Given the description of an element on the screen output the (x, y) to click on. 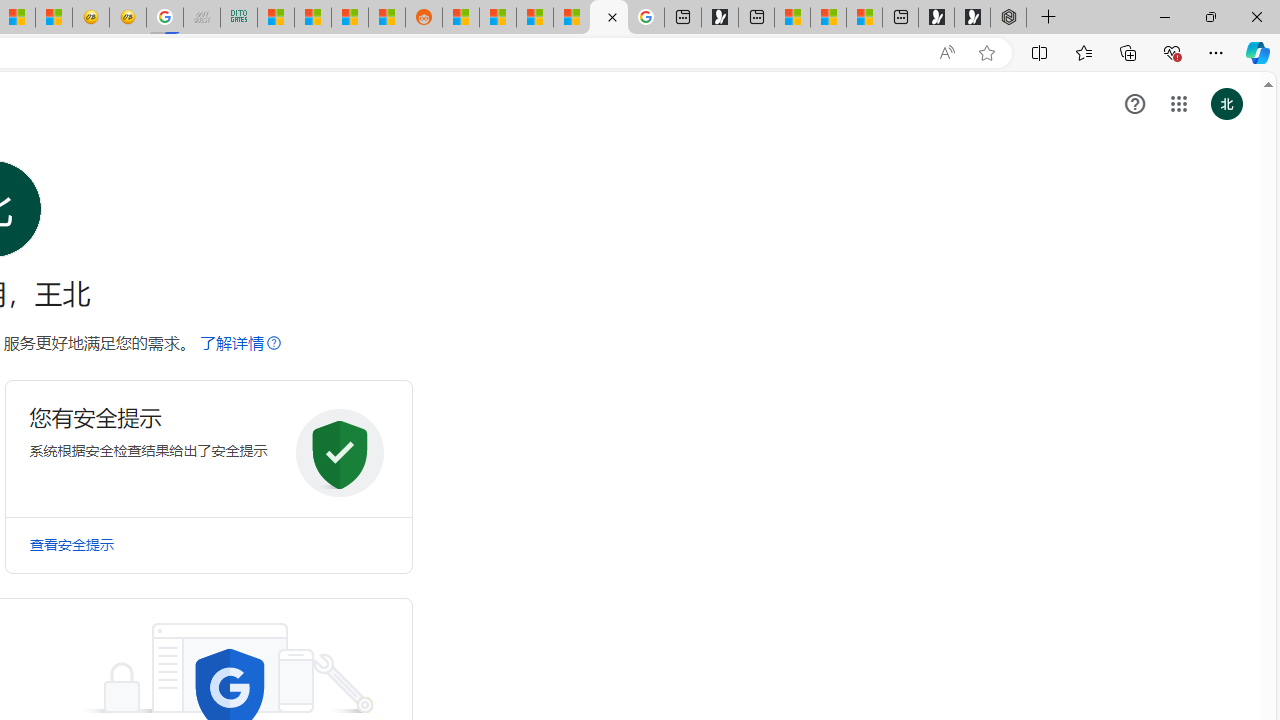
R******* | Trusted Community Engagement and Contributions (460, 17)
Class: RlFDUe N5YmOc kJXJmd bvW4md I6g62c (208, 448)
